Given the description of an element on the screen output the (x, y) to click on. 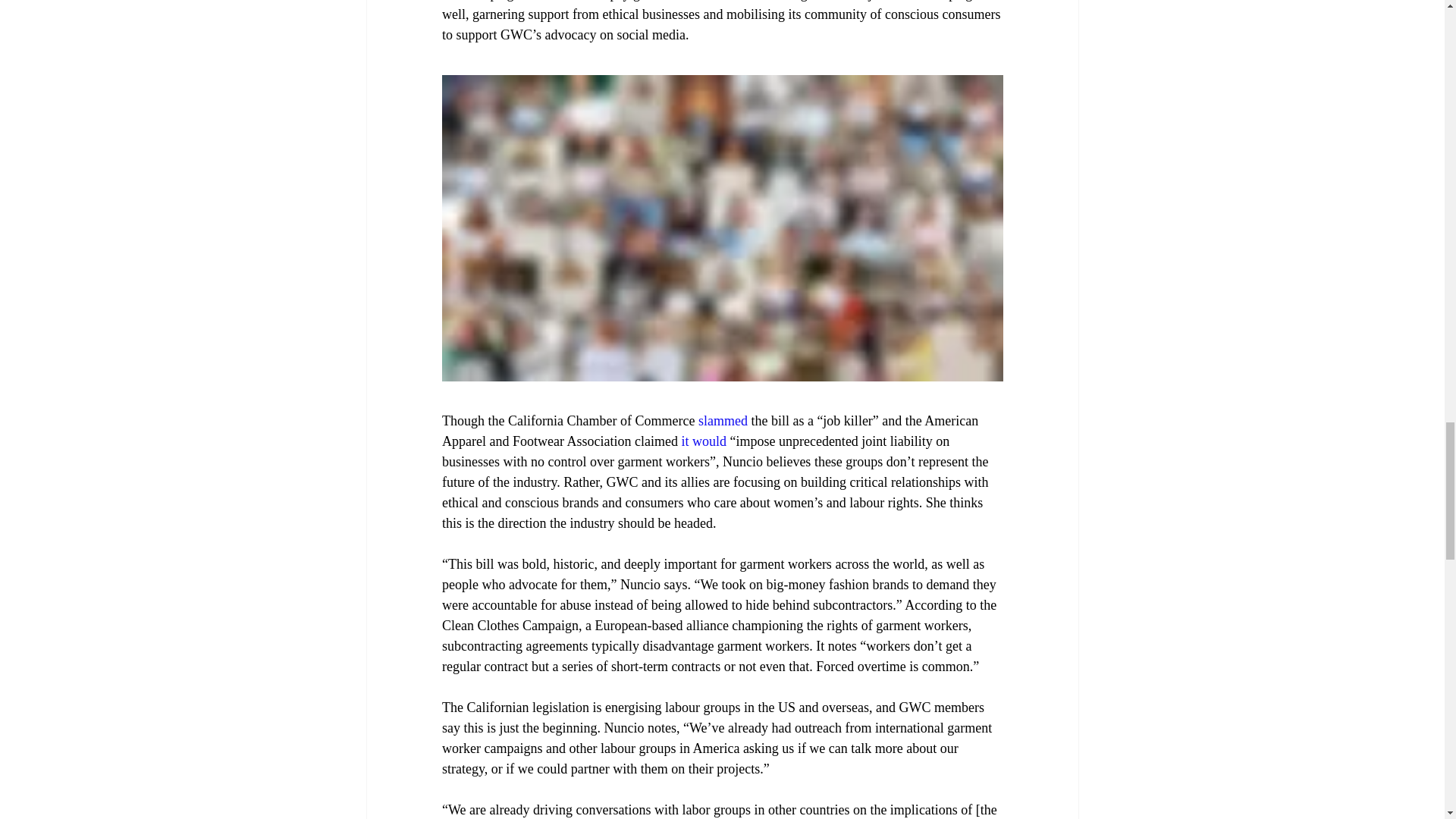
it would (703, 441)
slammed (721, 420)
